Given the description of an element on the screen output the (x, y) to click on. 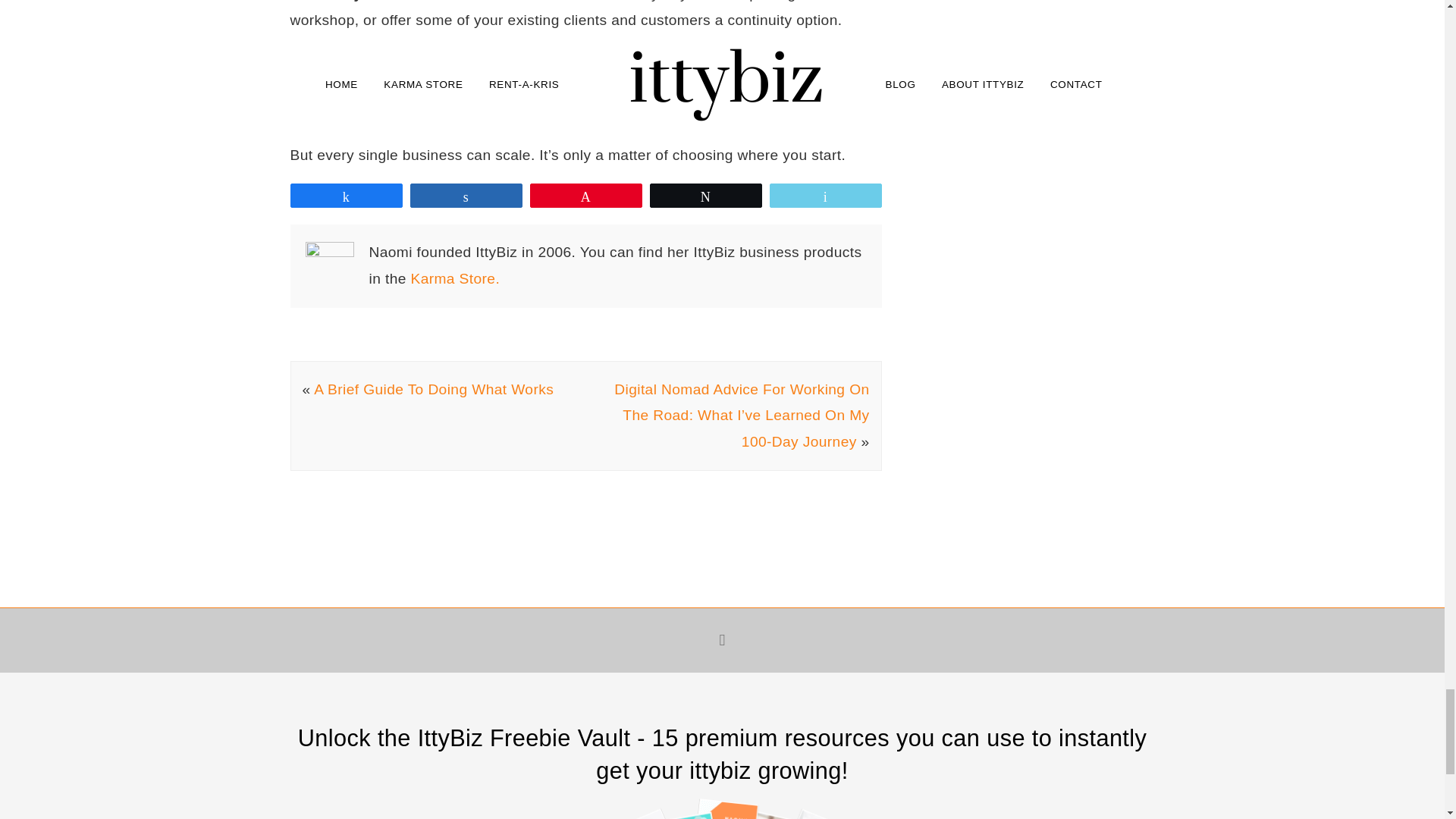
Karma Store. (454, 278)
A Brief Guide To Doing What Works (433, 389)
